Given the description of an element on the screen output the (x, y) to click on. 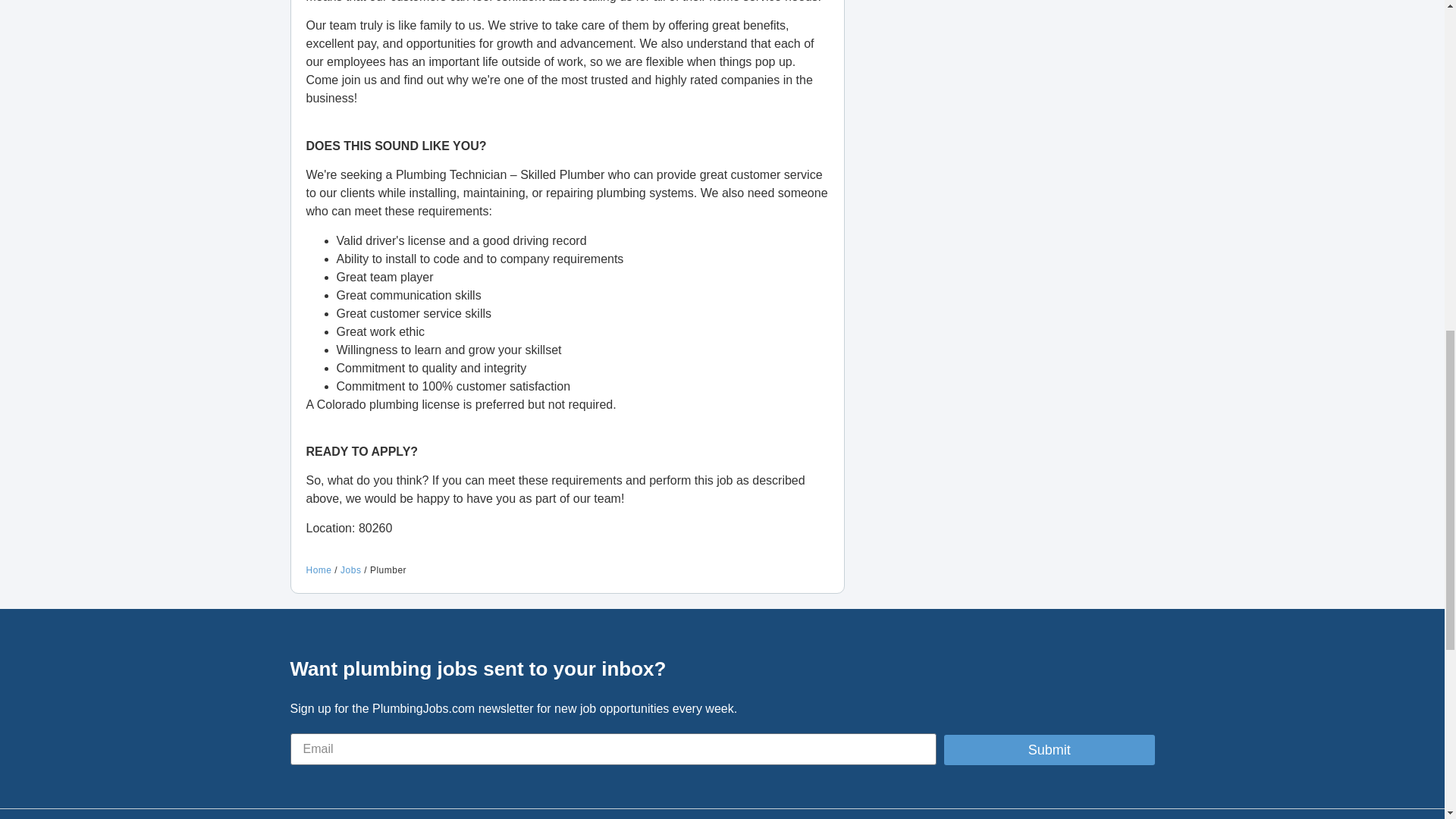
Jobs (350, 570)
Submit (1048, 749)
Home (318, 570)
